Given the description of an element on the screen output the (x, y) to click on. 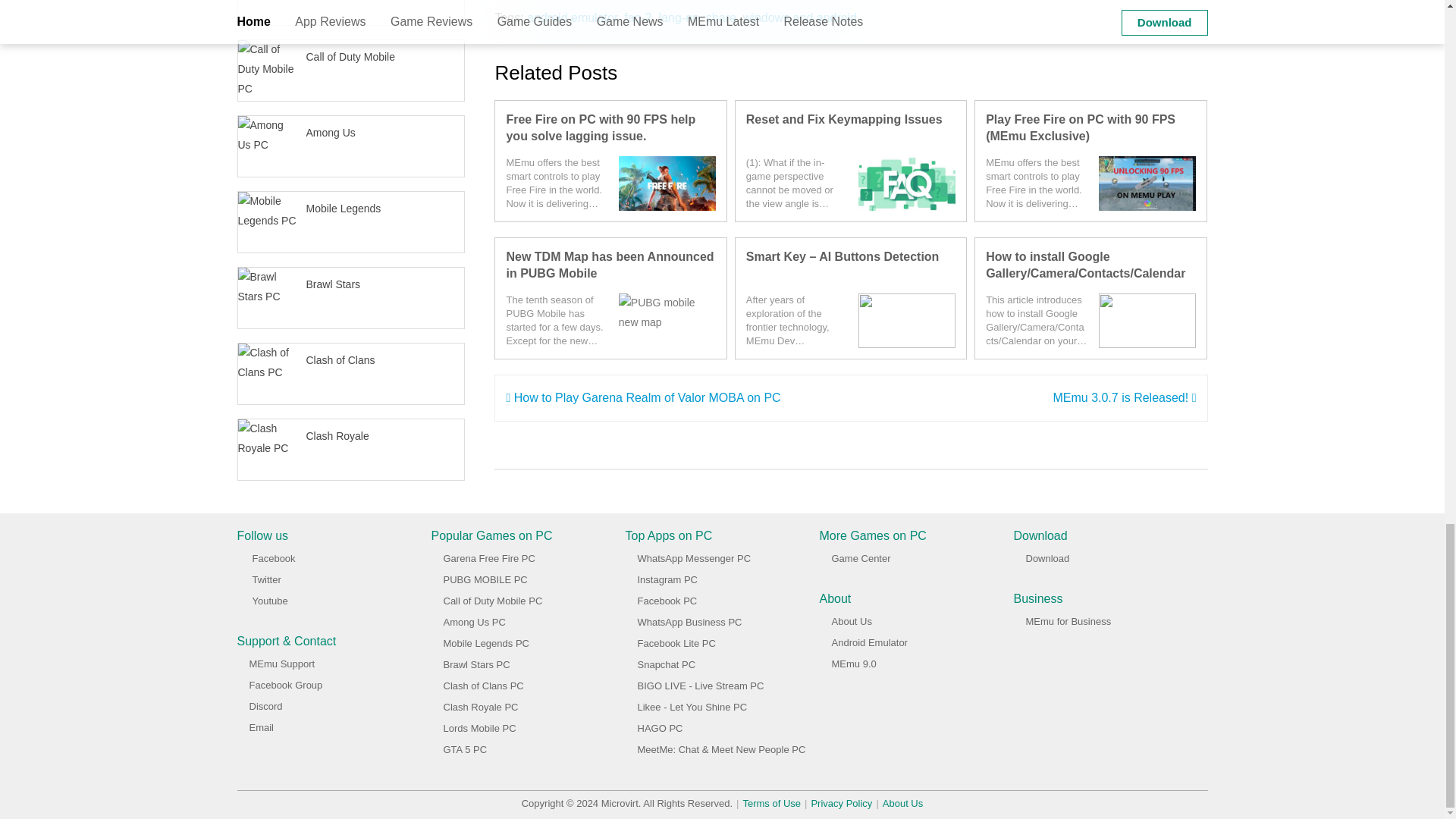
GTA 5 PC (464, 749)
Garena Free Fire PC (488, 558)
Clash of Clans PC (482, 685)
Clash Royale PC (480, 706)
Among Us PC (473, 622)
Call of Duty Mobile PC (491, 600)
Lords Mobile PC (478, 727)
Mobile Legends PC (485, 643)
Brawl Stars PC (475, 664)
PUBG MOBILE PC (484, 579)
